Given the description of an element on the screen output the (x, y) to click on. 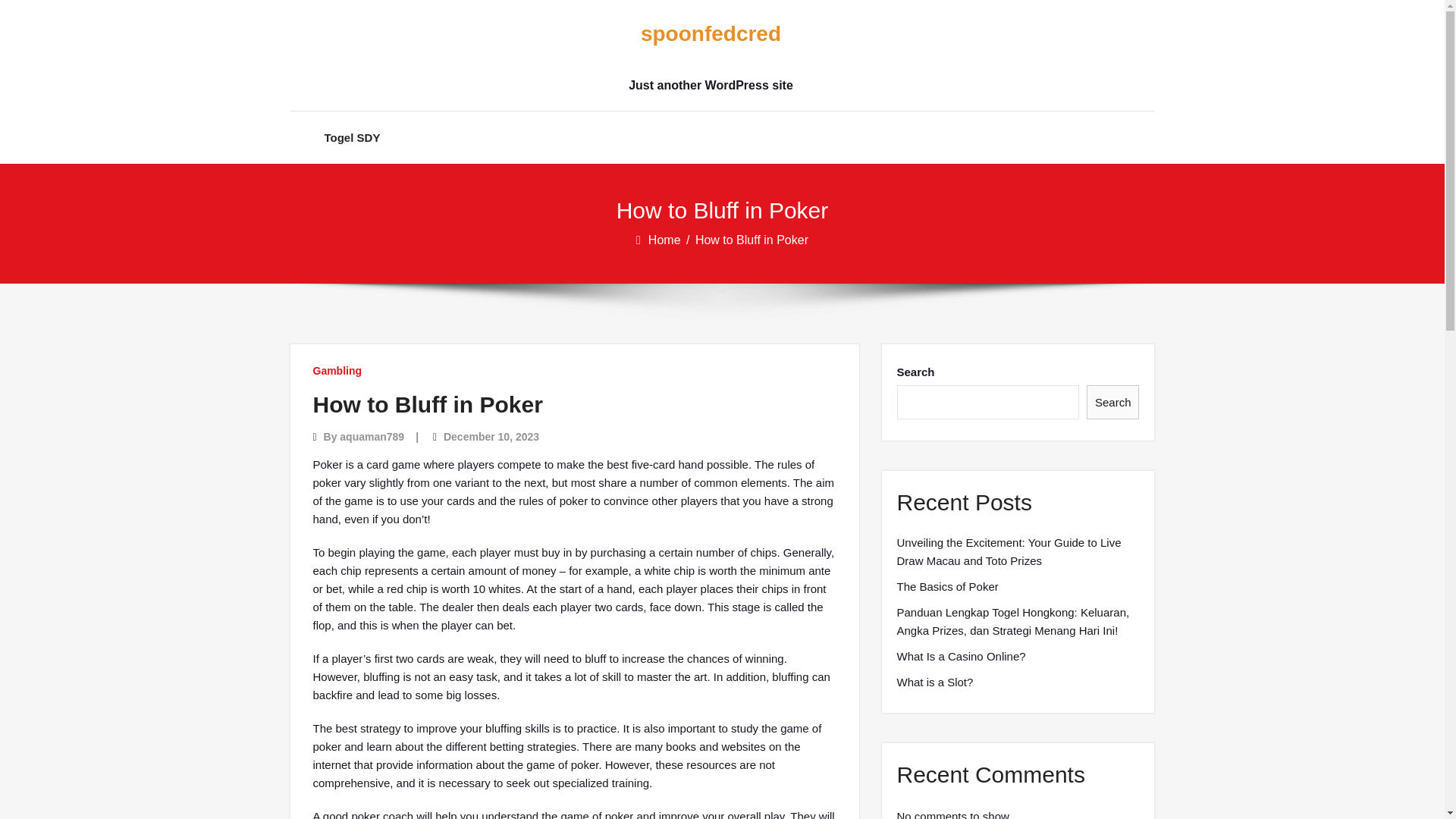
spoonfedcred (710, 34)
What Is a Casino Online? (960, 656)
aquaman789 (371, 436)
Search (1113, 401)
Home (664, 239)
The Basics of Poker (946, 587)
What is a Slot? (934, 682)
Gambling (337, 370)
